Given the description of an element on the screen output the (x, y) to click on. 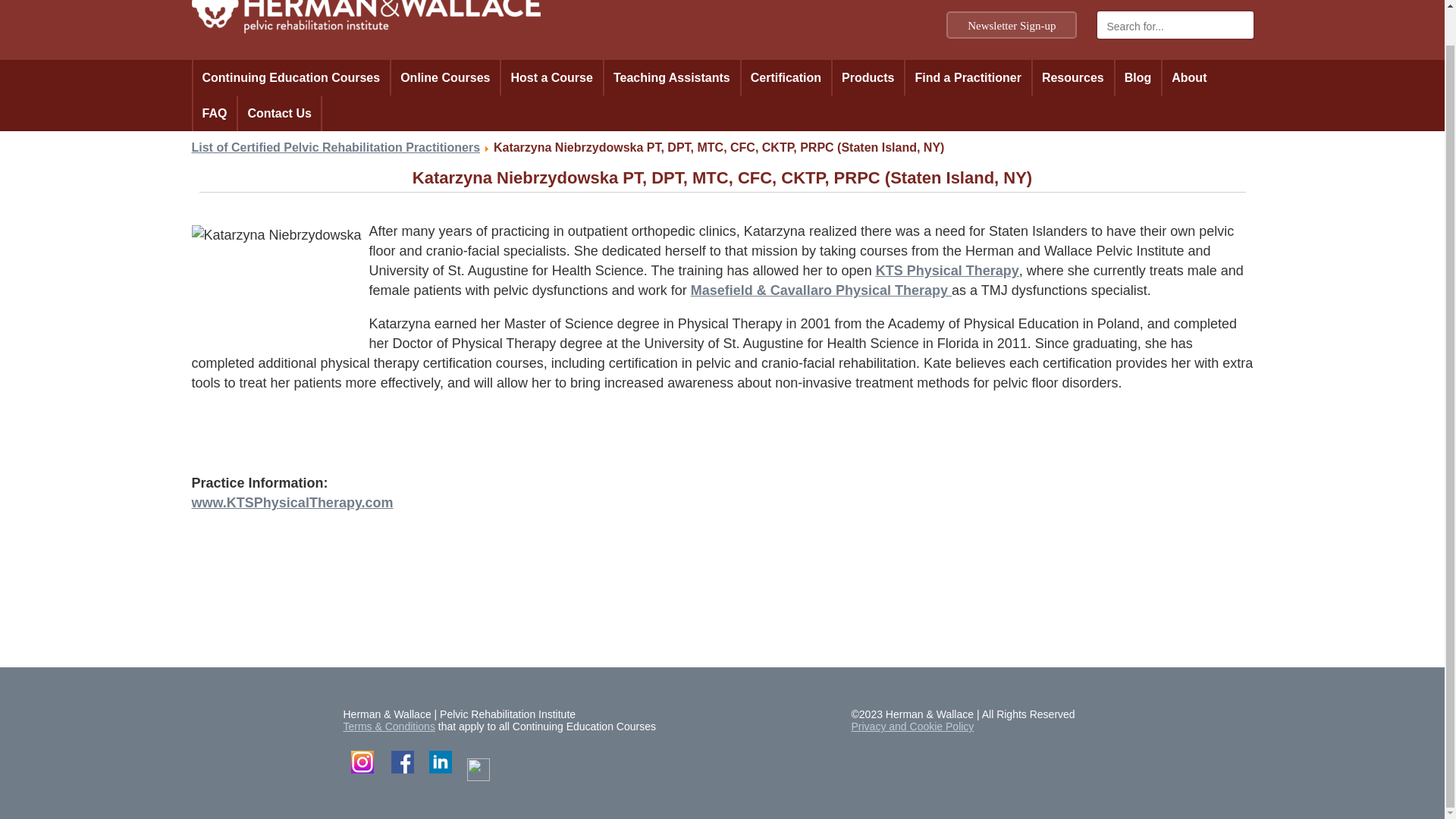
KTS Physical Therapy (947, 270)
Newsletter Sign-up (1011, 24)
Blog (1138, 77)
Host a Course (551, 77)
www.KTSPhysicalTherapy.com (291, 502)
Online Courses (444, 77)
Blog (1138, 77)
Products (867, 77)
FAQ (214, 113)
Teaching Assistants (671, 77)
